Given the description of an element on the screen output the (x, y) to click on. 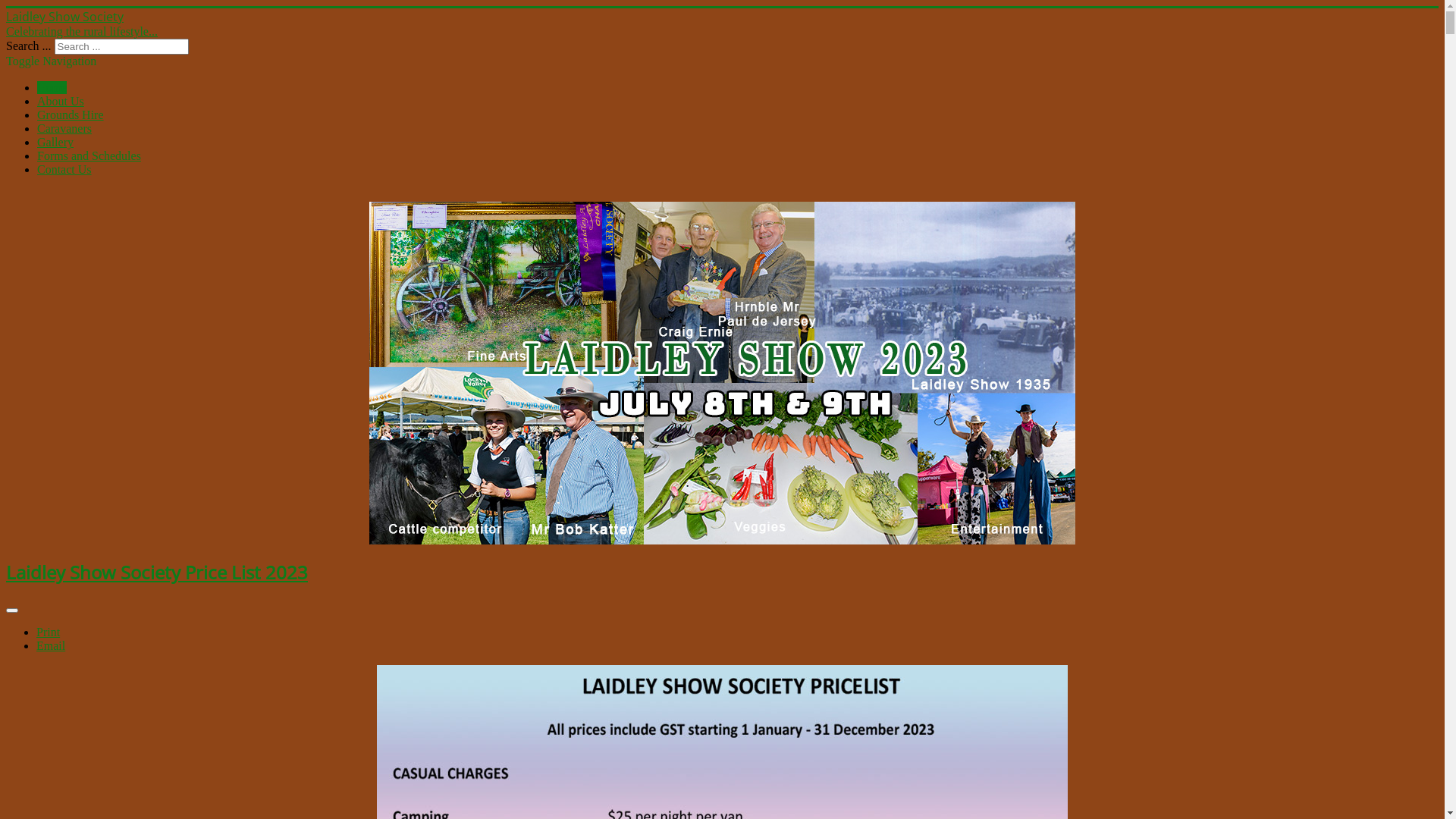
Email Element type: text (50, 645)
Contact Us Element type: text (64, 169)
Toggle Navigation Element type: text (51, 60)
Forms and Schedules Element type: text (89, 155)
Laidley Show Society Price List 2023 Element type: text (156, 571)
About Us Element type: text (60, 100)
Gallery Element type: text (55, 141)
Grounds Hire Element type: text (70, 114)
Print Element type: text (47, 631)
Laidley Show Society
Celebrating the rural lifestyle... Element type: text (722, 24)
Home Element type: text (51, 87)
Caravaners Element type: text (64, 128)
